Given the description of an element on the screen output the (x, y) to click on. 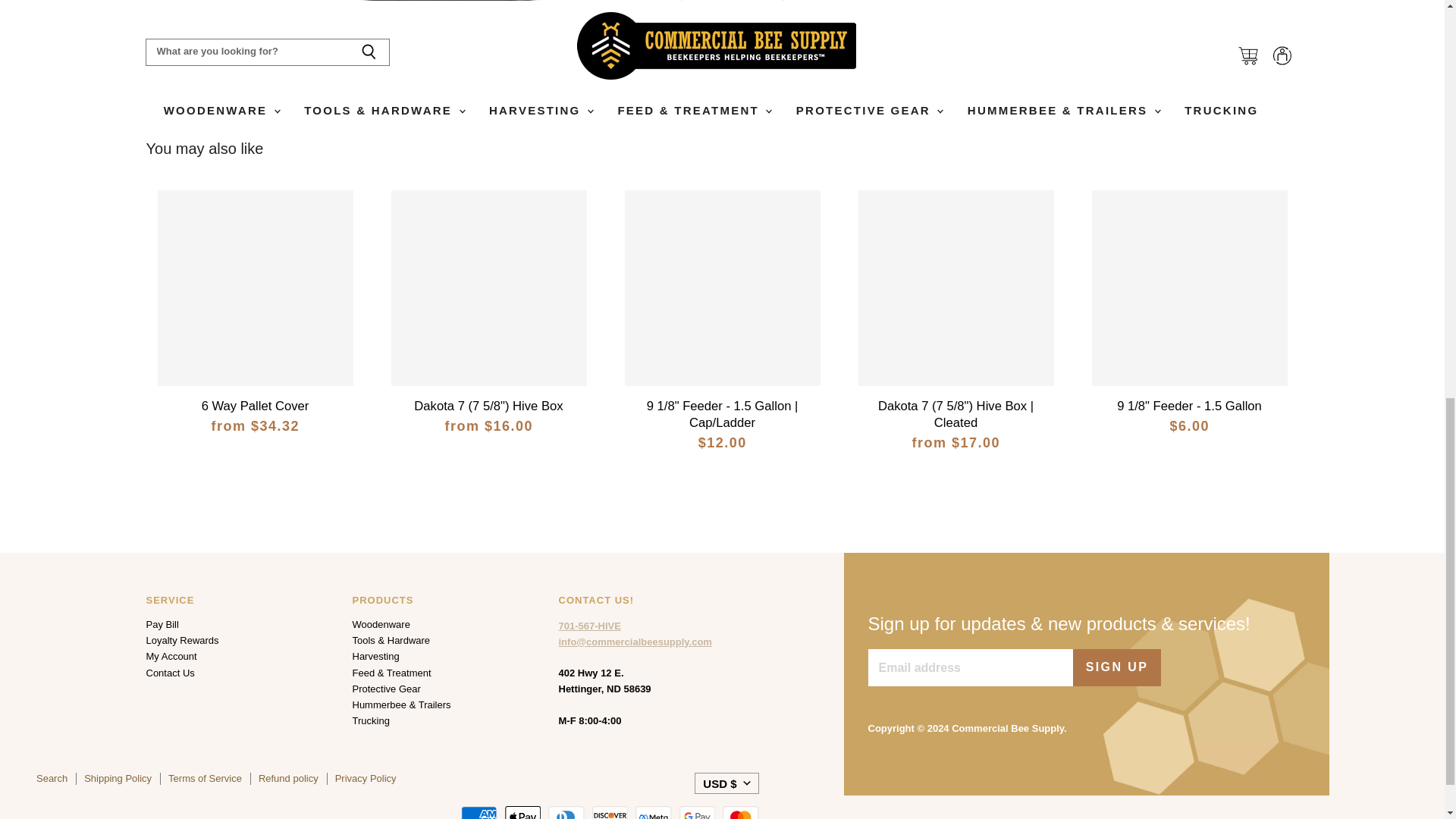
tel:701-567-HIVE (588, 625)
